Given the description of an element on the screen output the (x, y) to click on. 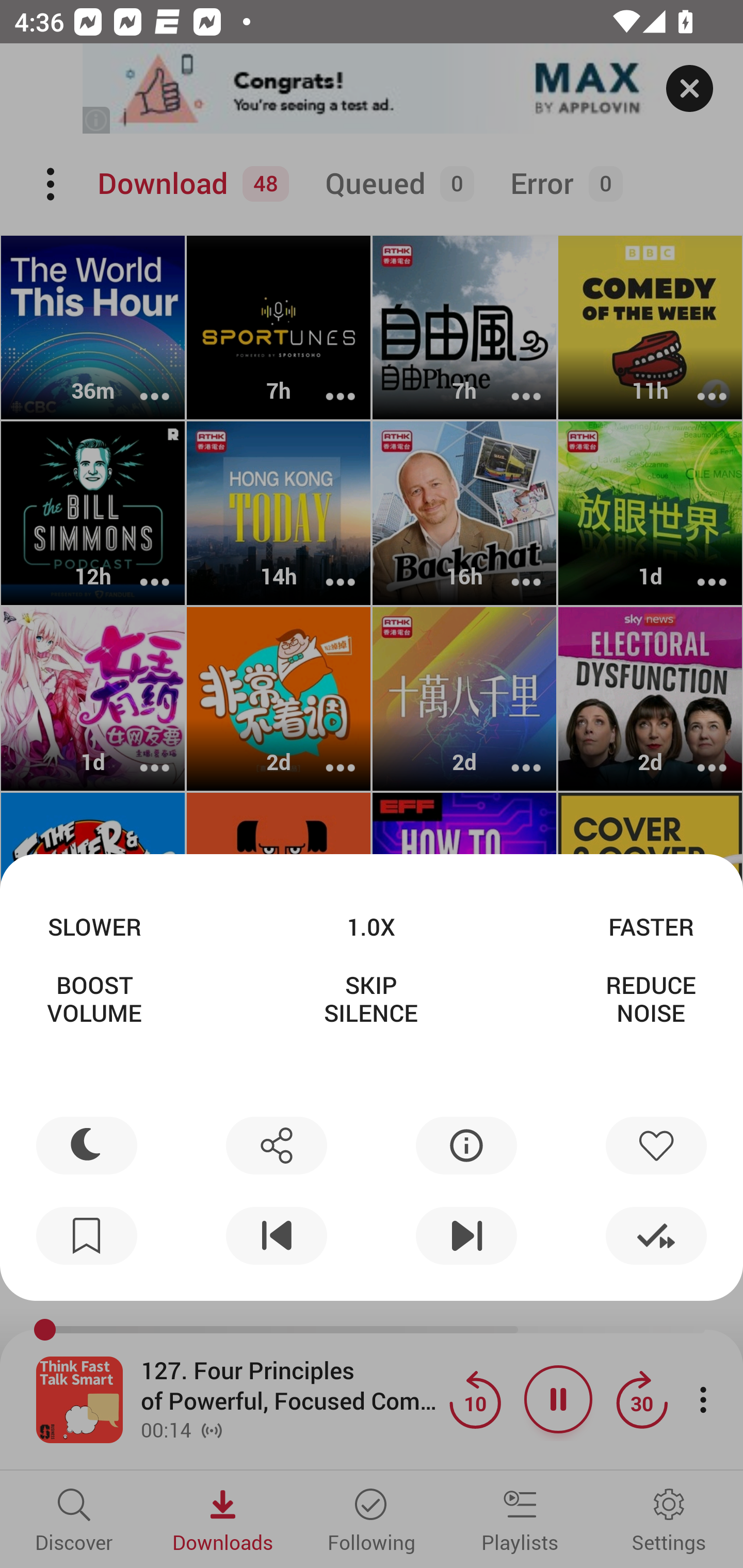
SLOWER (94, 926)
1.0X (370, 926)
FASTER (650, 926)
BOOST
VOLUME (94, 998)
SKIP
SILENCE (370, 998)
REDUCE
NOISE (650, 998)
Sleep timer (86, 1145)
Share (275, 1145)
Info (466, 1145)
Like (655, 1145)
New bookmark … (86, 1236)
Previous (275, 1236)
Next (466, 1236)
Mark played and next (655, 1236)
